Given the description of an element on the screen output the (x, y) to click on. 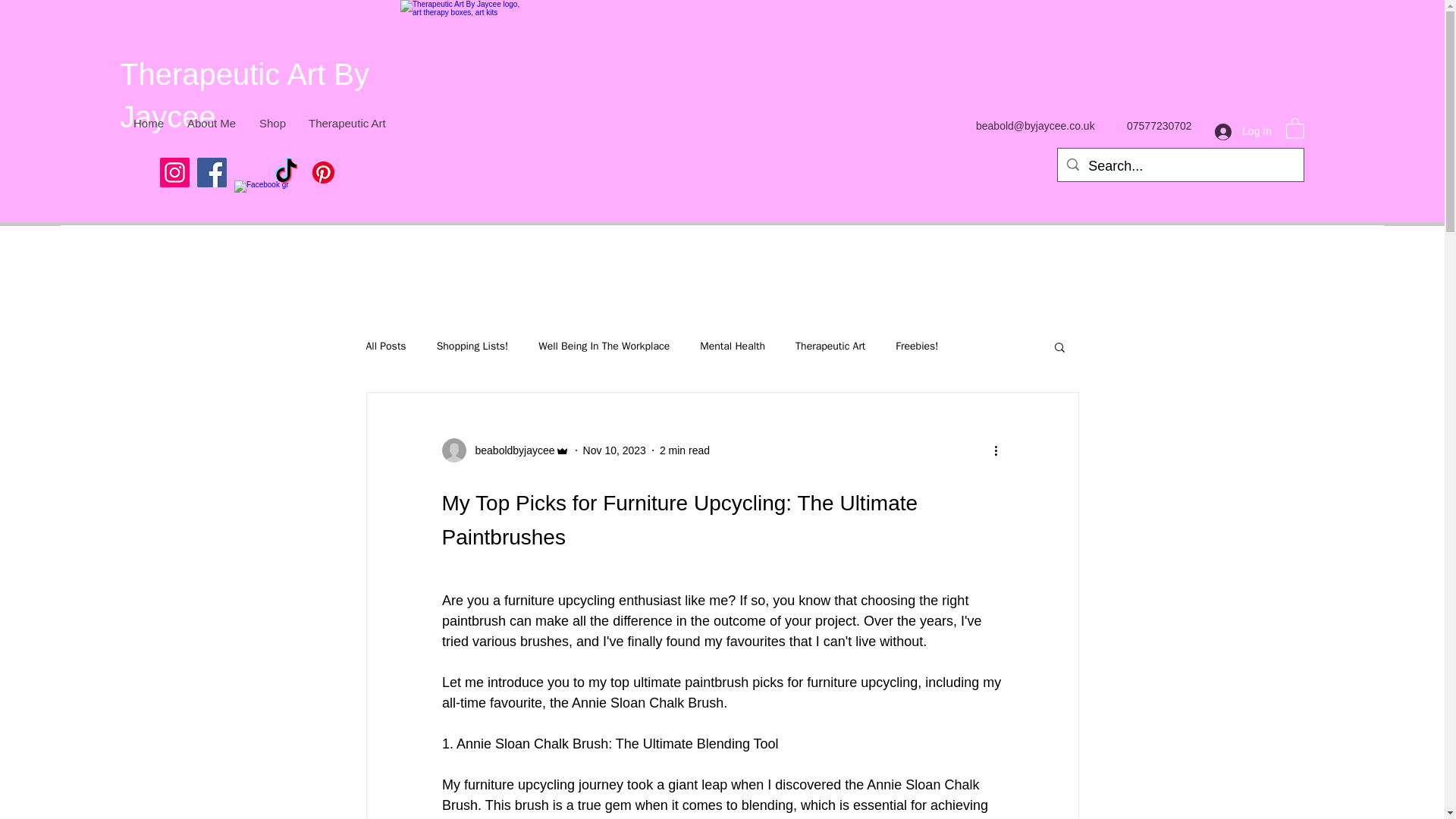
Therapeutic Art (346, 123)
Freebies! (916, 345)
Nov 10, 2023 (614, 450)
Therapeutic Art (829, 345)
beaboldbyjaycee (509, 450)
All Posts (385, 345)
Well Being In The Workplace (603, 345)
Shopping Lists! (472, 345)
About Me (210, 123)
Therapeutic Art By Jaycee (244, 95)
